Given the description of an element on the screen output the (x, y) to click on. 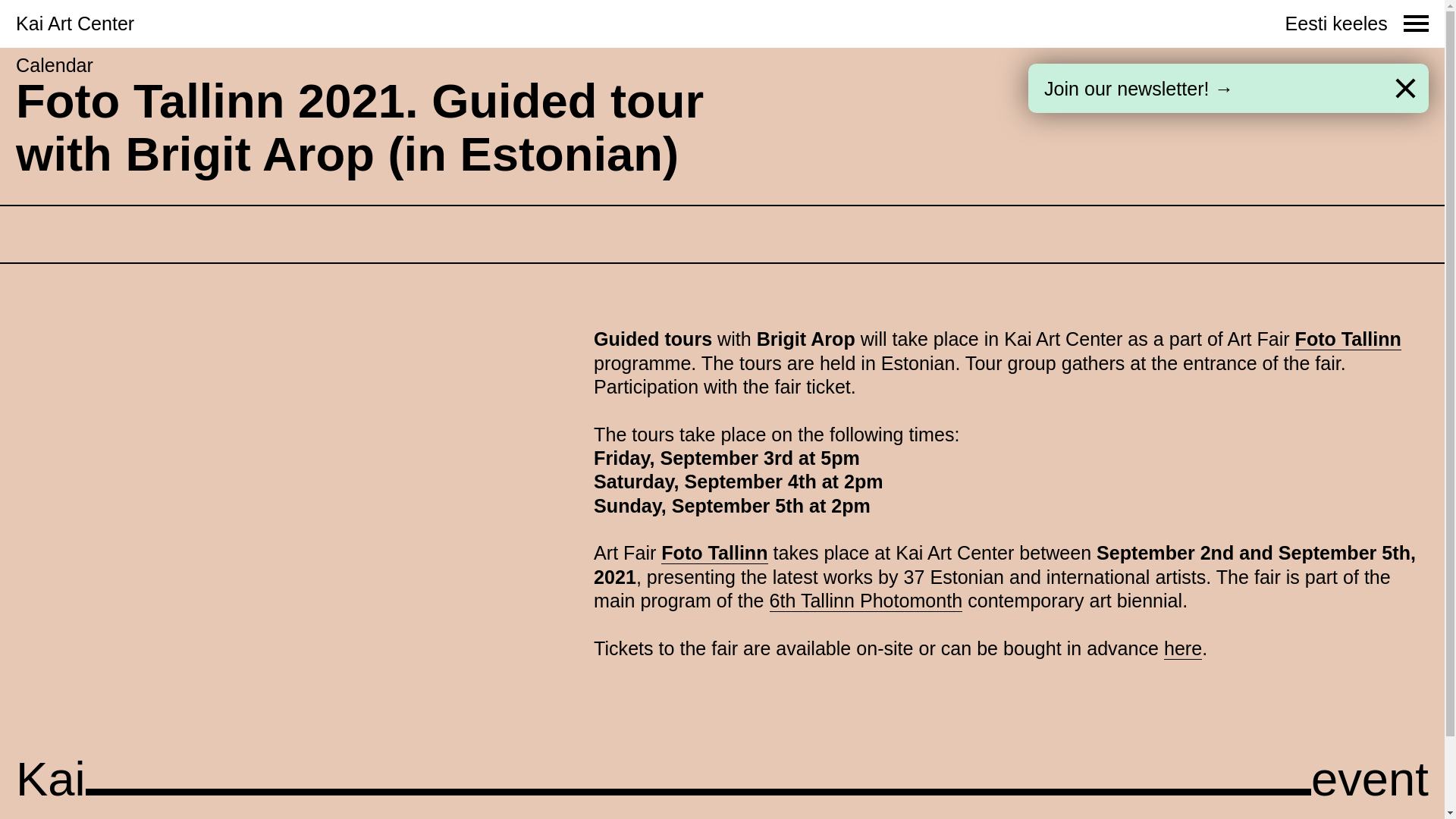
here Element type: text (1182, 648)
Kai Art Center Element type: text (74, 23)
Instagram Element type: text (780, 775)
Join our newsletter! Element type: text (820, 799)
Eesti keeles Element type: text (1336, 23)
Foto Tallinn Element type: text (714, 553)
6th Tallinn Photomonth Element type: text (865, 600)
Facebook Element type: text (780, 752)
Calendar Element type: text (64, 64)
Foto Tallinn Element type: text (1348, 339)
